Given the description of an element on the screen output the (x, y) to click on. 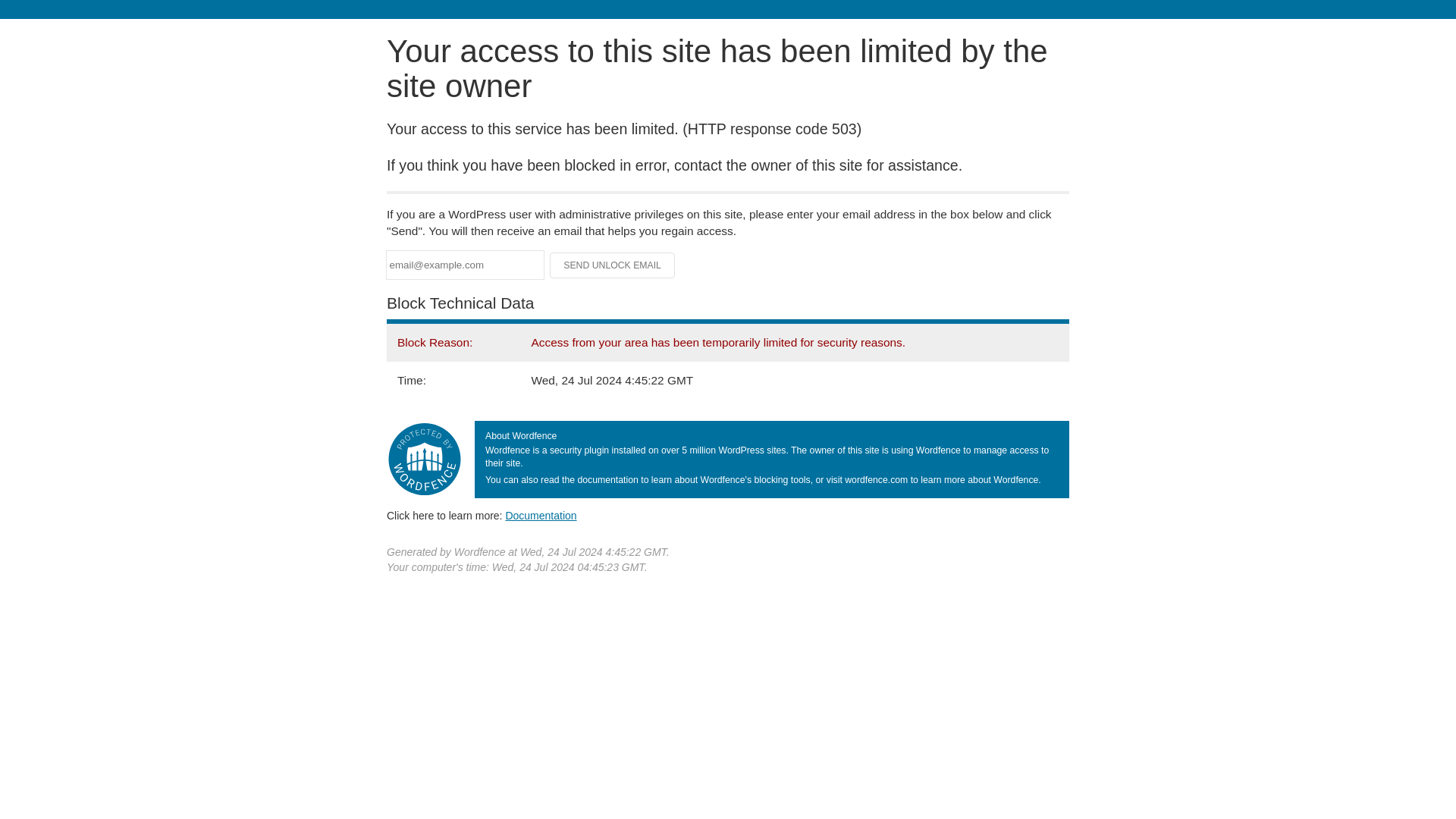
Documentation (540, 515)
Send Unlock Email (612, 265)
Send Unlock Email (612, 265)
